Given the description of an element on the screen output the (x, y) to click on. 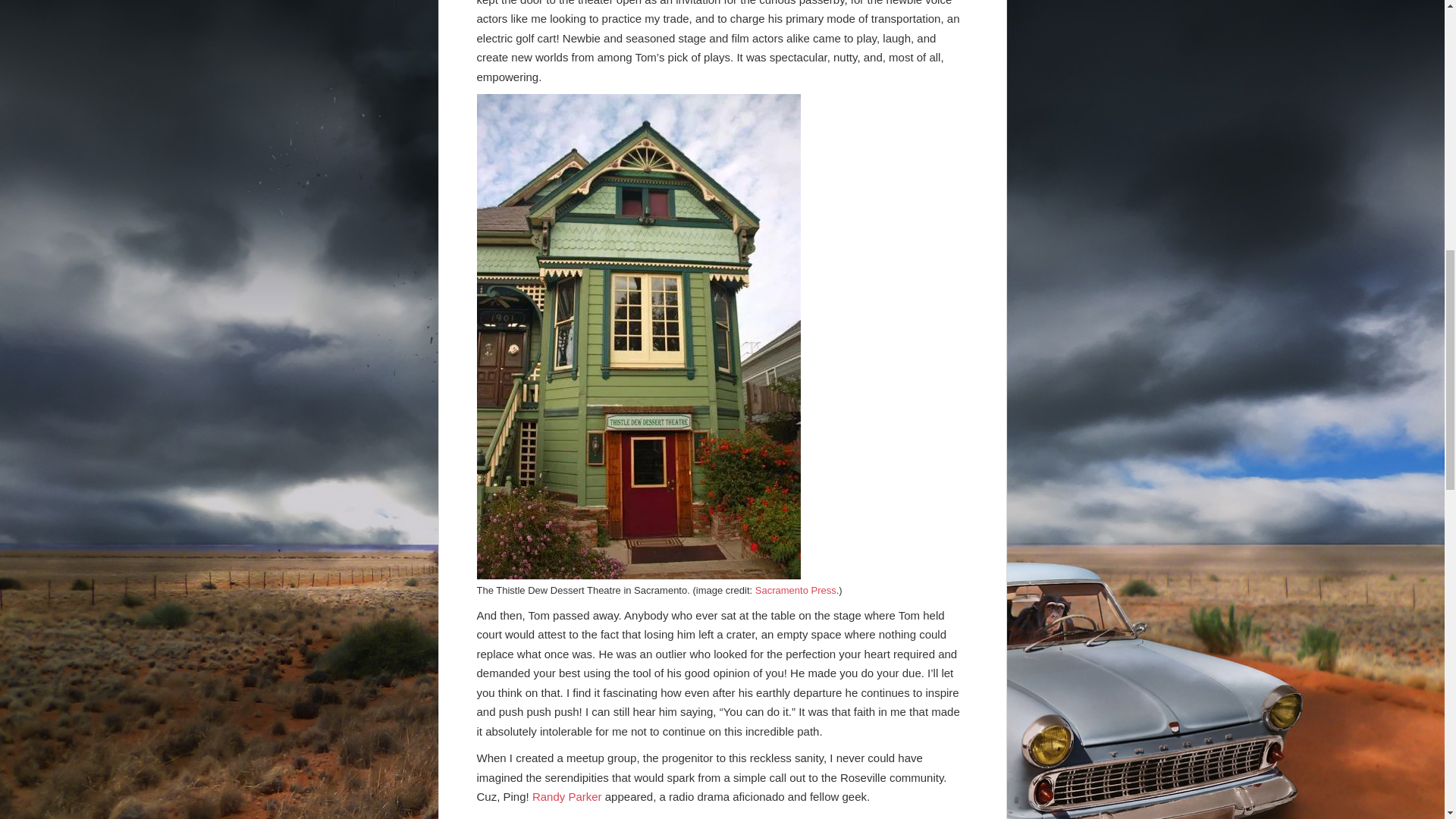
Randy Parker (567, 796)
Sacramento Press (795, 590)
